Given the description of an element on the screen output the (x, y) to click on. 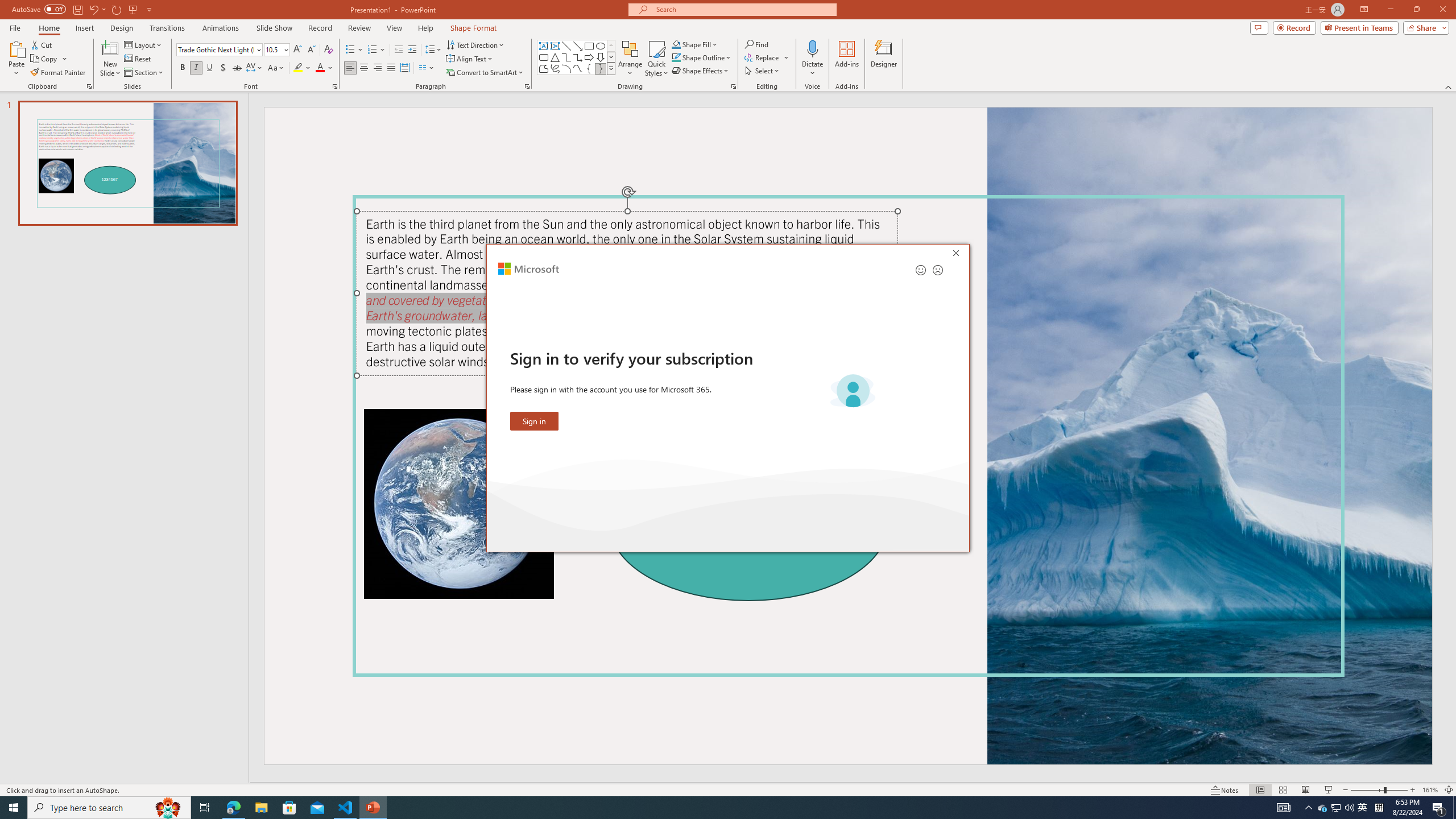
Bold (182, 67)
Freeform: Shape (543, 68)
Microsoft Edge - 1 running window (233, 807)
Shadow (223, 67)
